Given the description of an element on the screen output the (x, y) to click on. 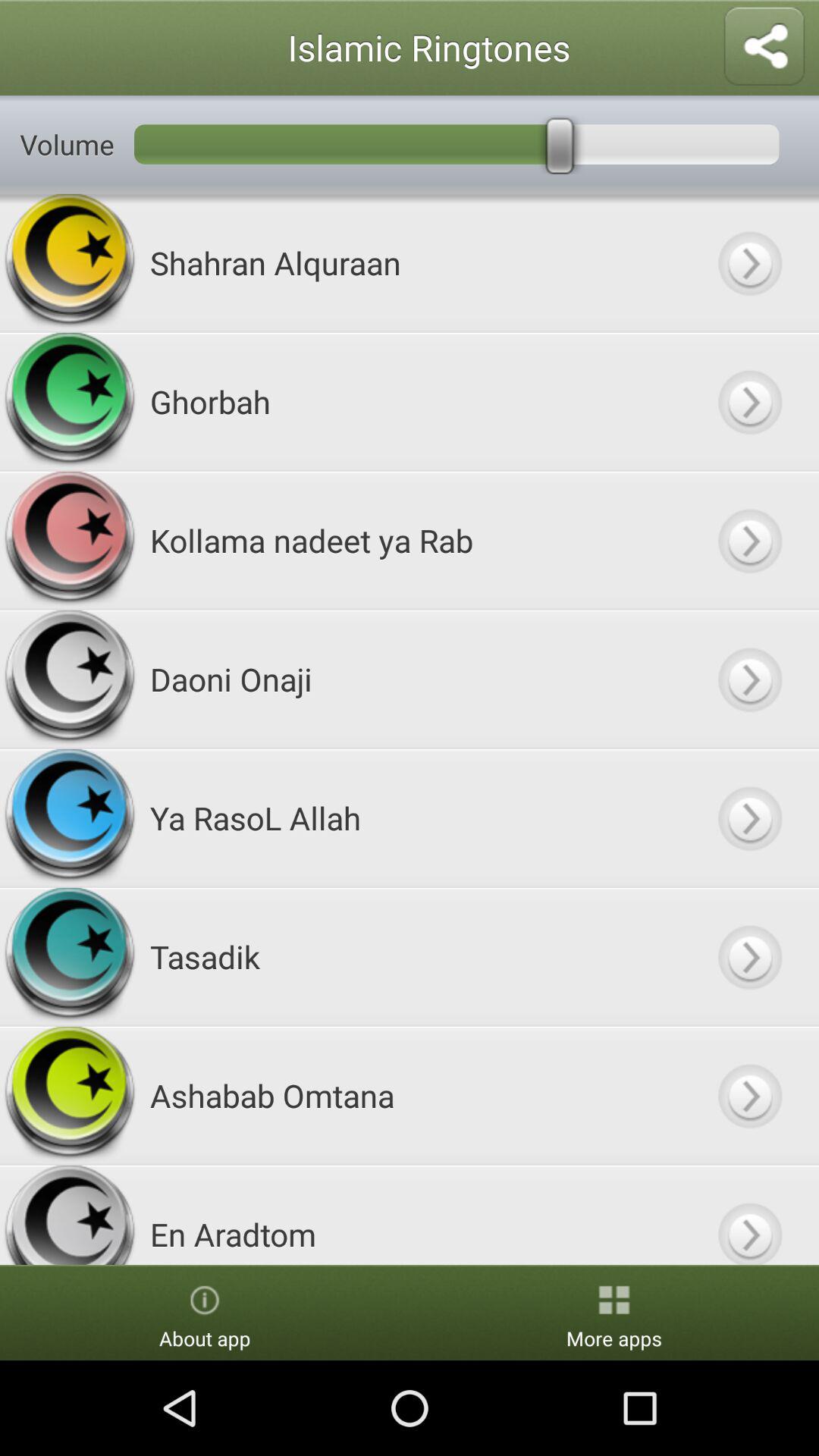
play sound (749, 262)
